Given the description of an element on the screen output the (x, y) to click on. 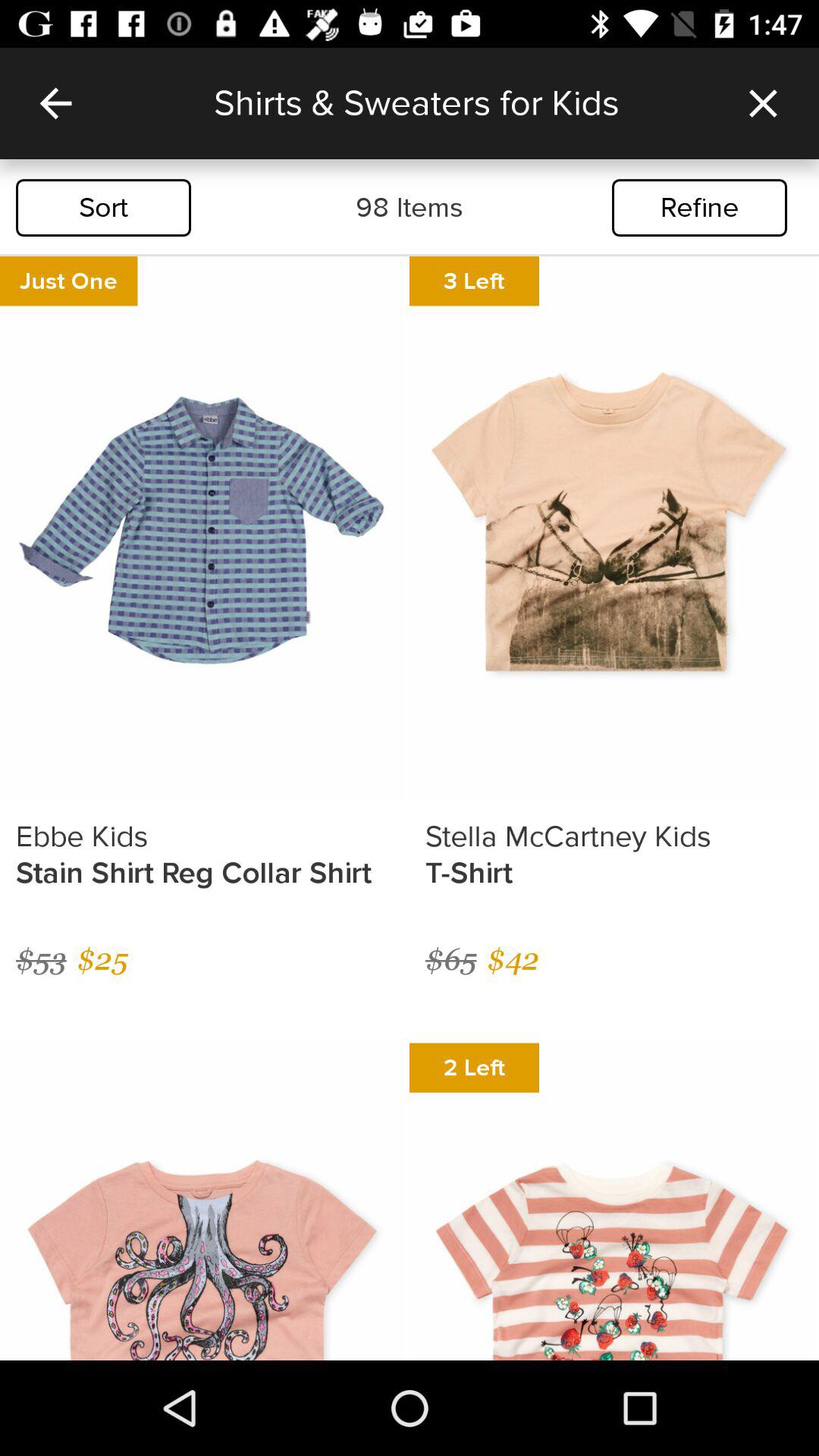
press the item next to refine icon (409, 207)
